Given the description of an element on the screen output the (x, y) to click on. 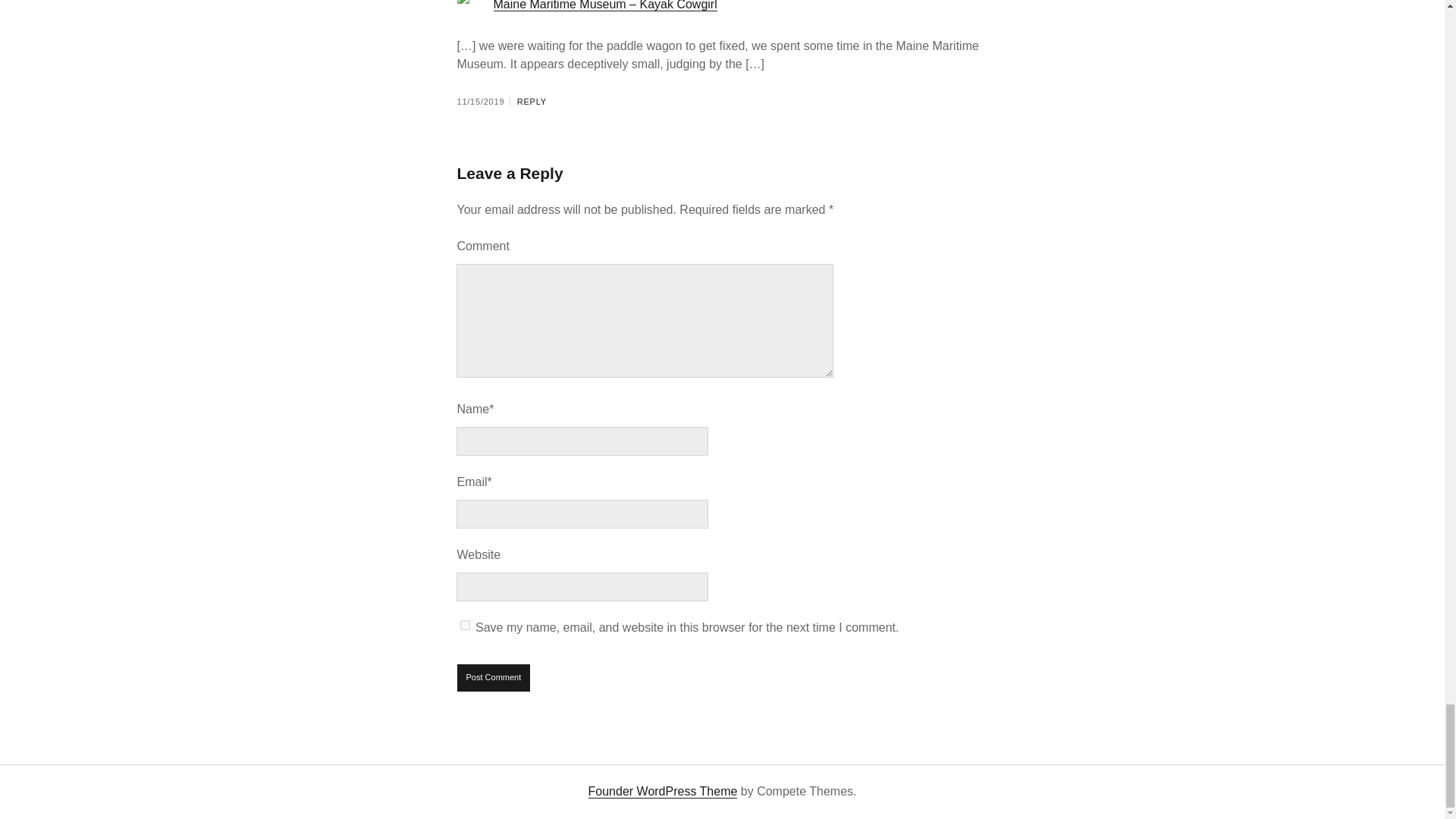
yes (465, 624)
Founder WordPress Theme (663, 791)
Post Comment (494, 677)
Post Comment (494, 677)
REPLY (531, 102)
